Given the description of an element on the screen output the (x, y) to click on. 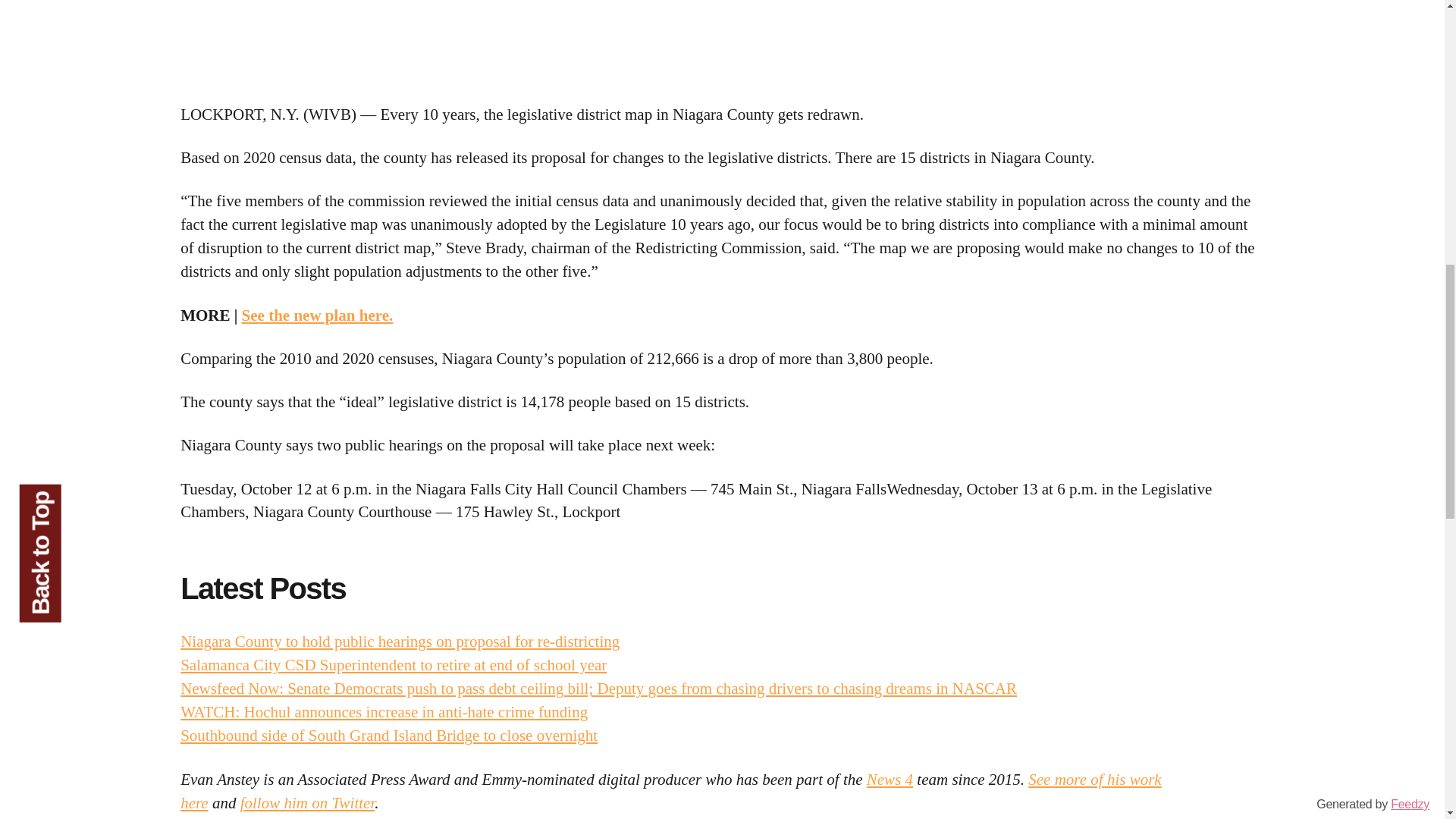
See the new plan here. (317, 315)
follow him on Twitter (307, 802)
WATCH: Hochul announces increase in anti-hate crime funding (384, 711)
See more of his work here (670, 791)
News 4 (889, 779)
